Given the description of an element on the screen output the (x, y) to click on. 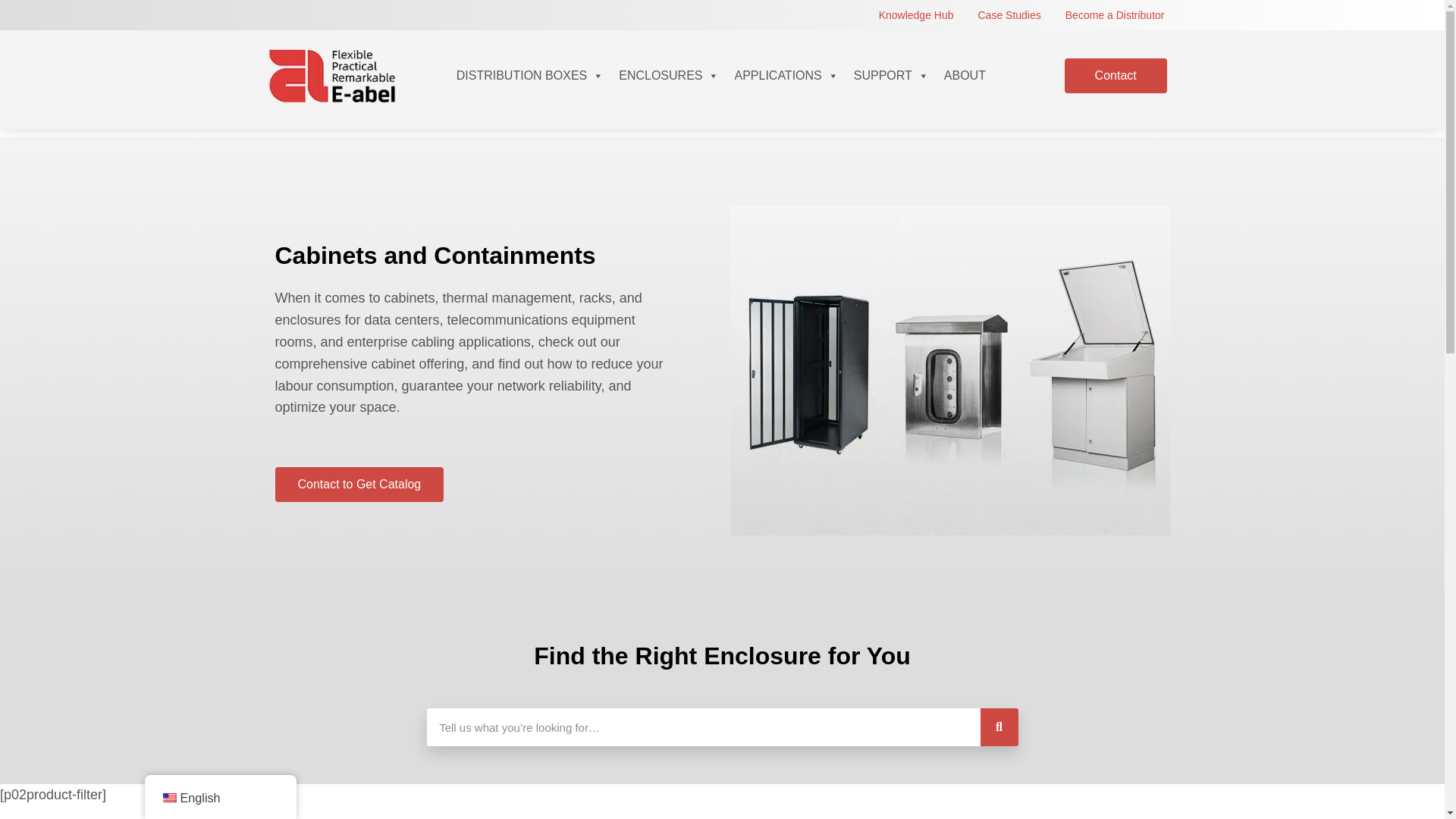
Knowledge Hub (916, 15)
ENCLOSURES (668, 75)
DISTRIBUTION BOXES (529, 75)
English (168, 797)
Become a Distributor (1114, 15)
Case Studies (1009, 15)
